Given the description of an element on the screen output the (x, y) to click on. 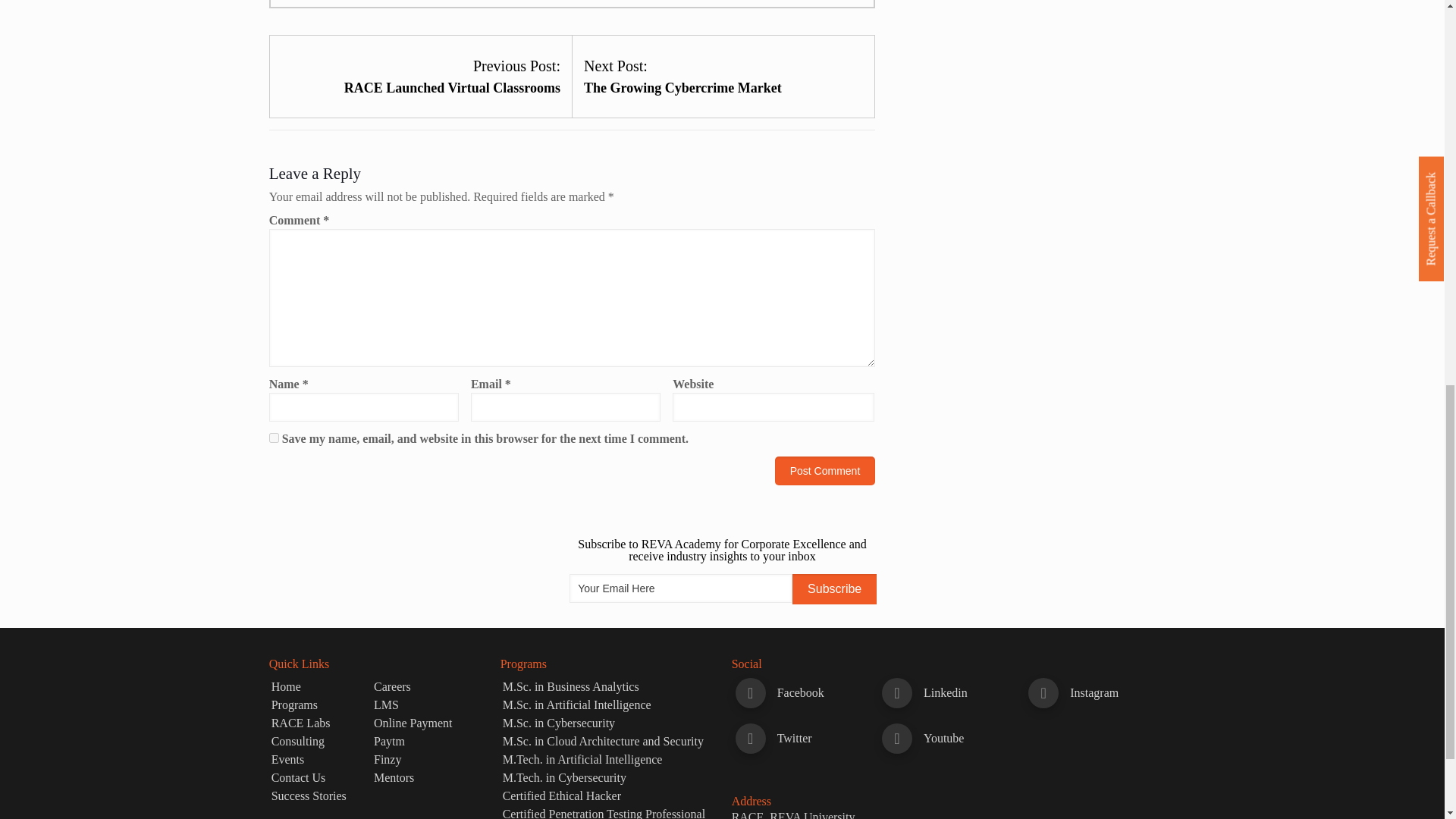
Post Comment (825, 470)
yes (274, 438)
Subscribe (834, 589)
